Given the description of an element on the screen output the (x, y) to click on. 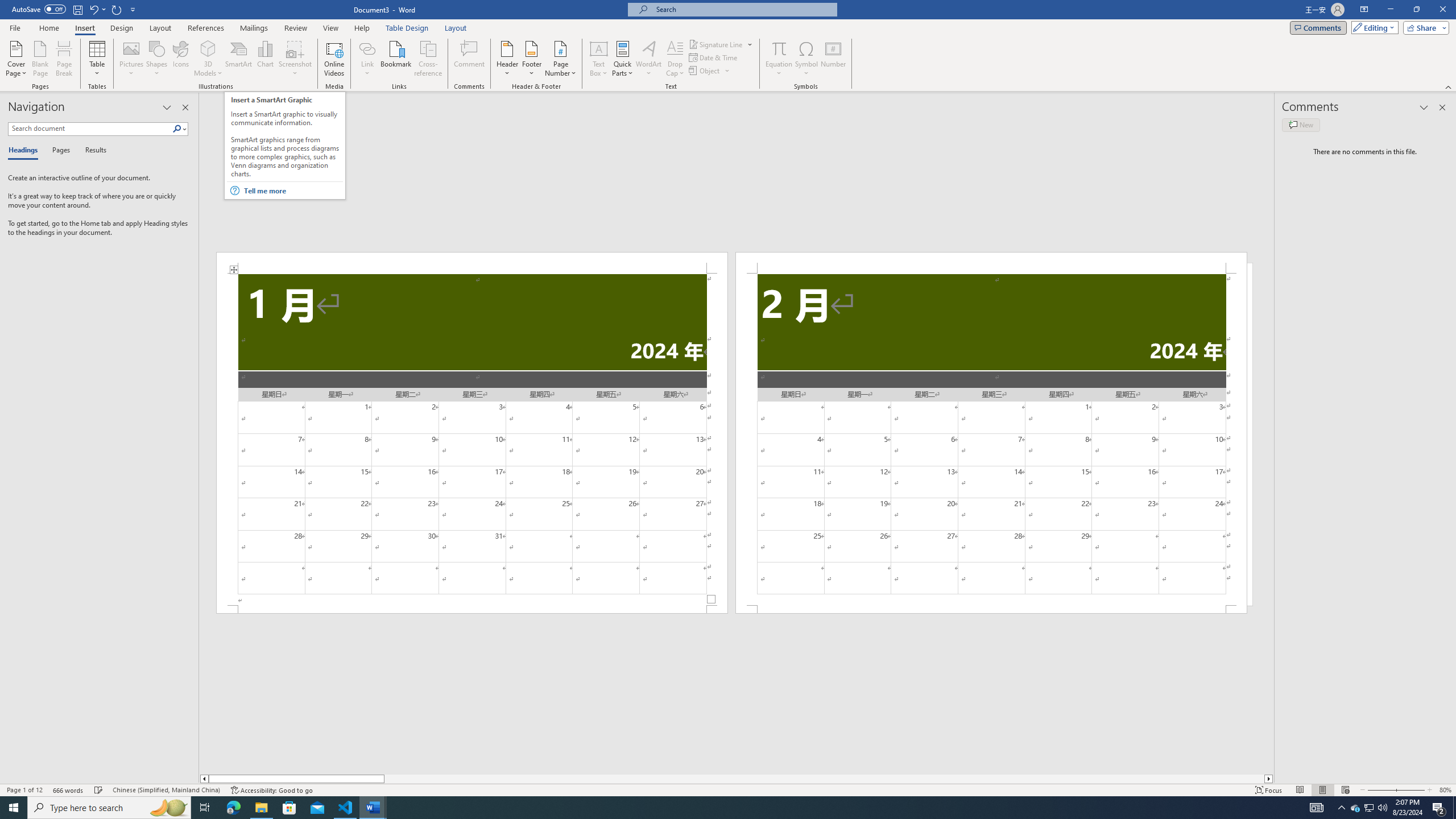
Object... (705, 69)
Drop Cap (674, 58)
Comment (469, 58)
Quick Parts (622, 58)
Page Number (560, 58)
3D Models (208, 48)
Footer (531, 58)
